Given the description of an element on the screen output the (x, y) to click on. 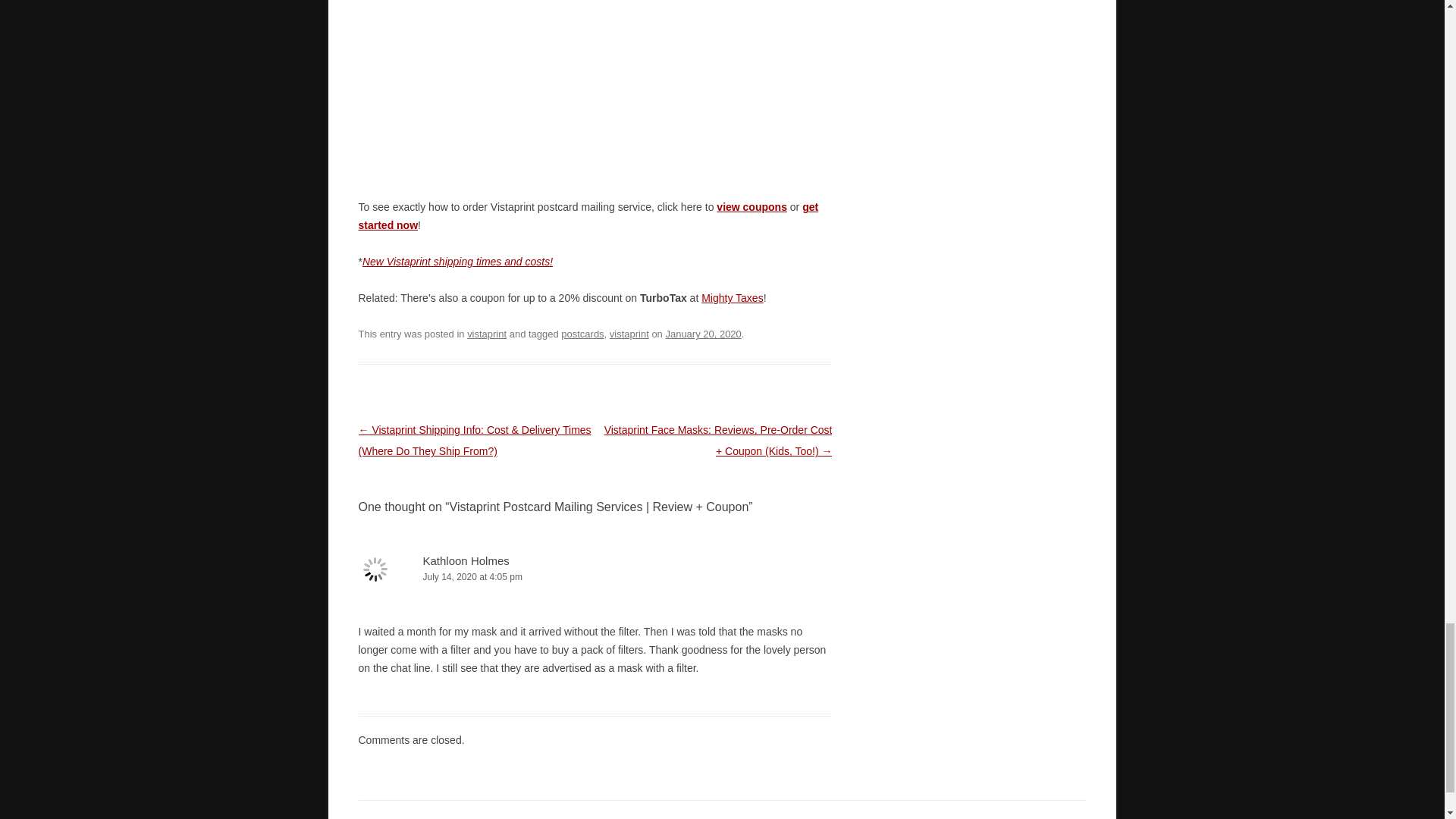
view coupons (751, 206)
get started now (588, 215)
11:53 am (703, 333)
January 20, 2020 (703, 333)
July 14, 2020 at 4:05 pm (594, 577)
vistaprint (486, 333)
vistaprint (629, 333)
Mighty Taxes (731, 297)
New Vistaprint shipping times and costs! (457, 261)
postcards (582, 333)
